Given the description of an element on the screen output the (x, y) to click on. 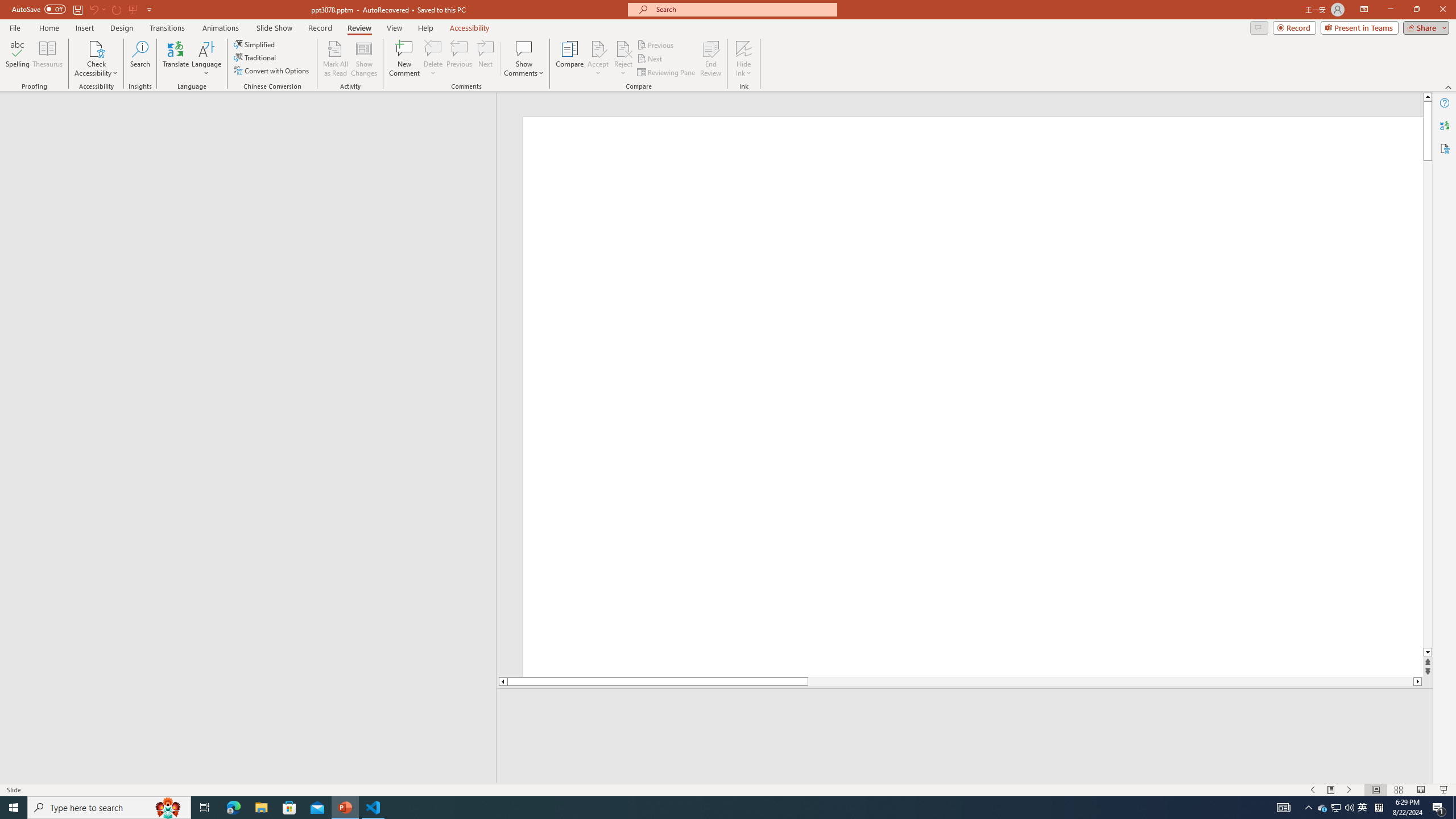
Accept (598, 58)
Thesaurus... (47, 58)
Menu On (1331, 790)
Slide Show Next On (1349, 790)
